Given the description of an element on the screen output the (x, y) to click on. 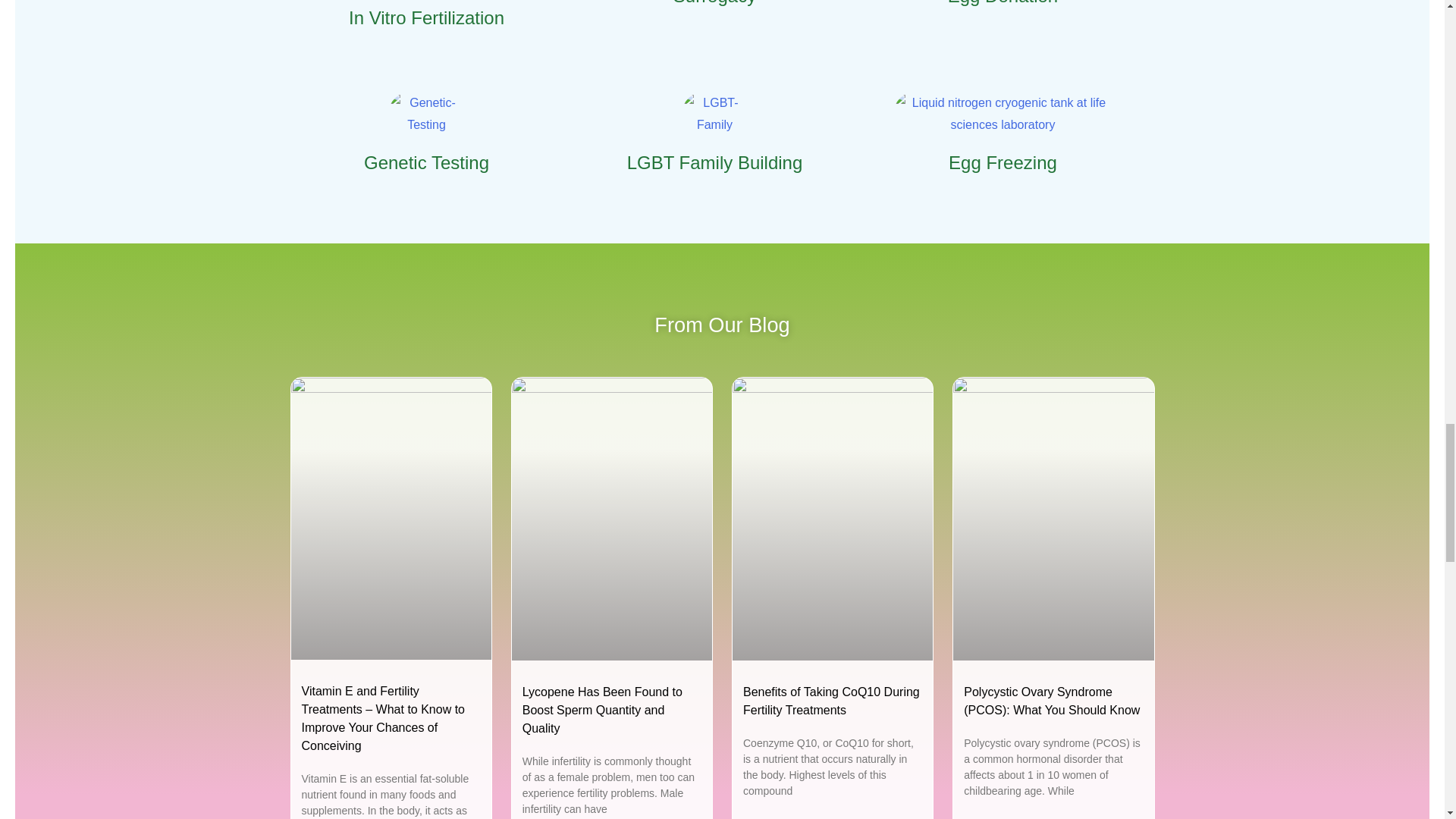
Liquid nitrogen cryogenic tank at laboratory (1002, 113)
Genetic-Testing (426, 113)
LGBT-Family (714, 113)
